Given the description of an element on the screen output the (x, y) to click on. 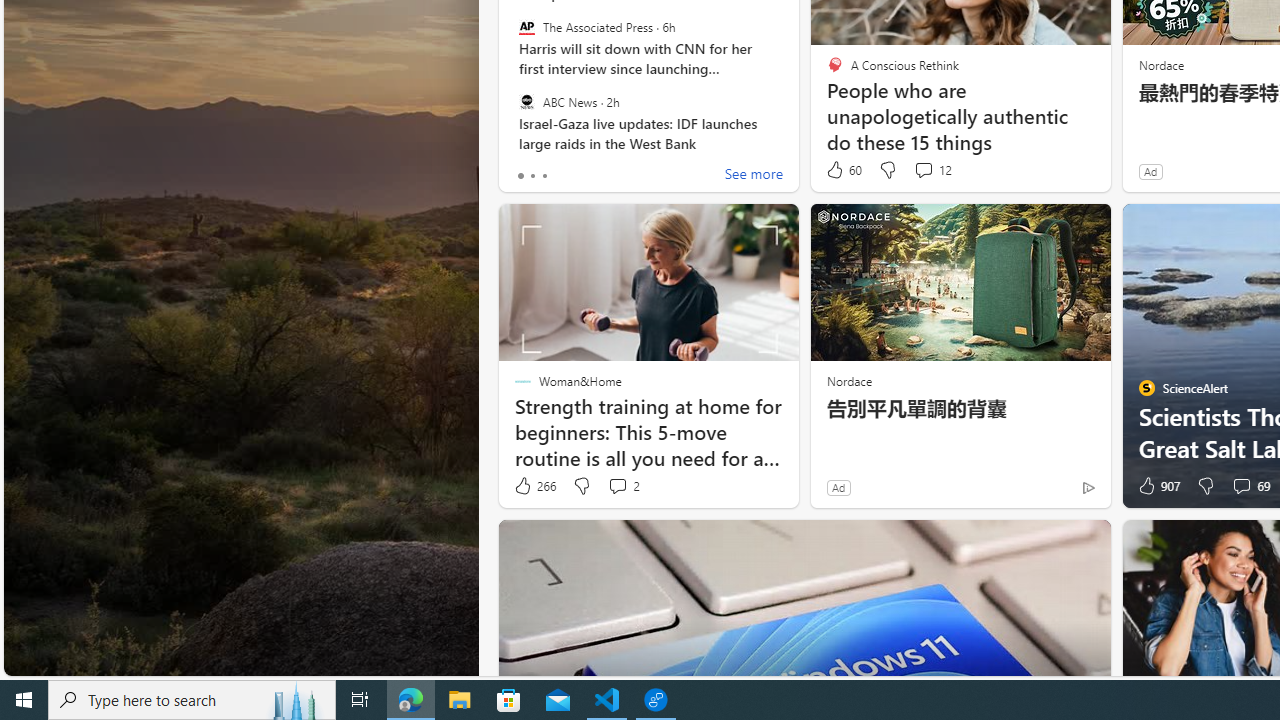
View comments 2 Comment (617, 485)
View comments 2 Comment (623, 485)
The Associated Press (526, 27)
tab-2 (543, 175)
View comments 69 Comment (1249, 485)
907 Like (1157, 485)
View comments 12 Comment (923, 169)
